Given the description of an element on the screen output the (x, y) to click on. 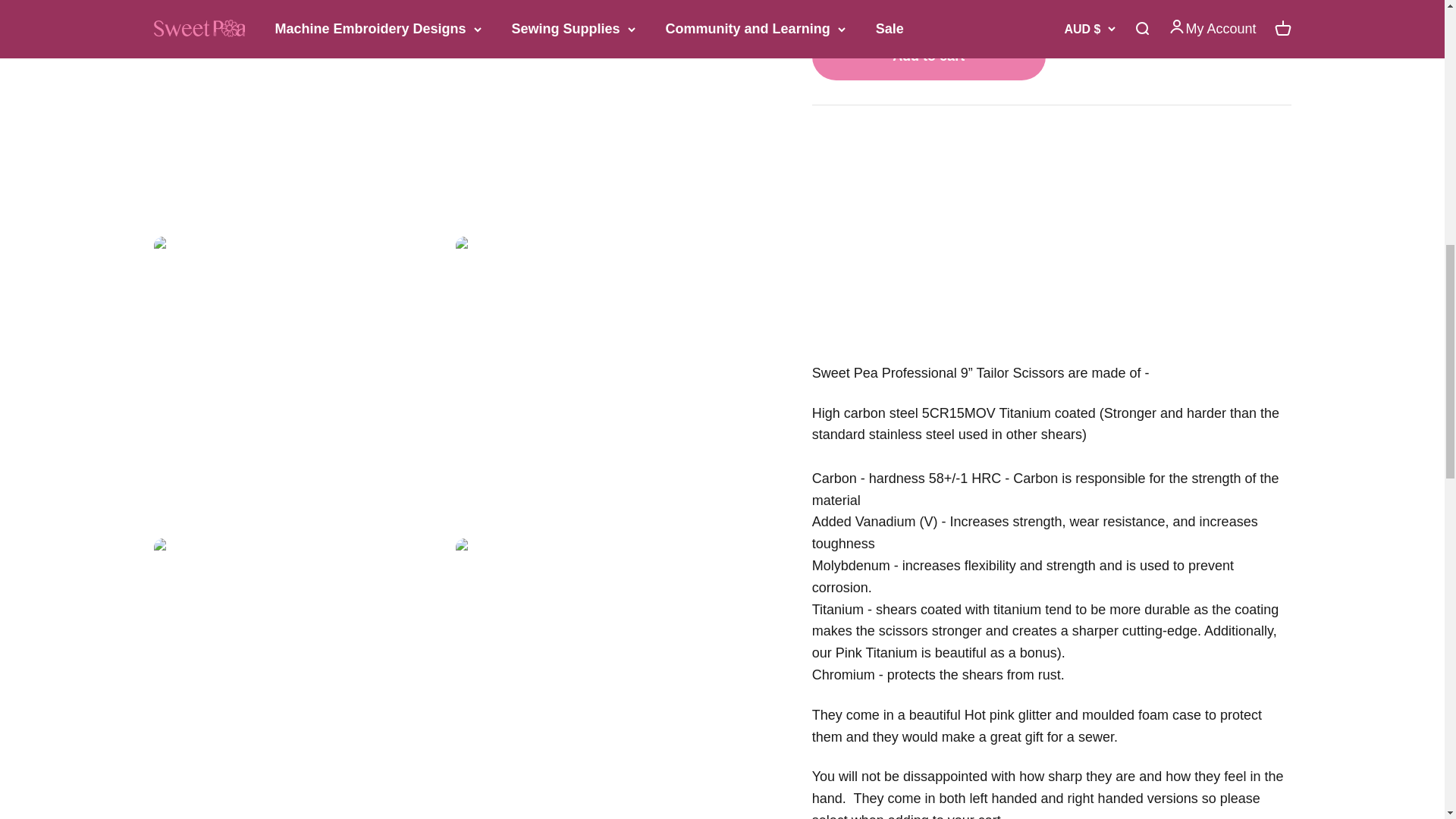
Mastercard (924, 718)
PayPal (956, 718)
Union Pay (989, 718)
American Express (826, 718)
Apple Pay (858, 718)
YouTube video player (1024, 17)
Visa (1021, 718)
Google Pay (891, 718)
